Given the description of an element on the screen output the (x, y) to click on. 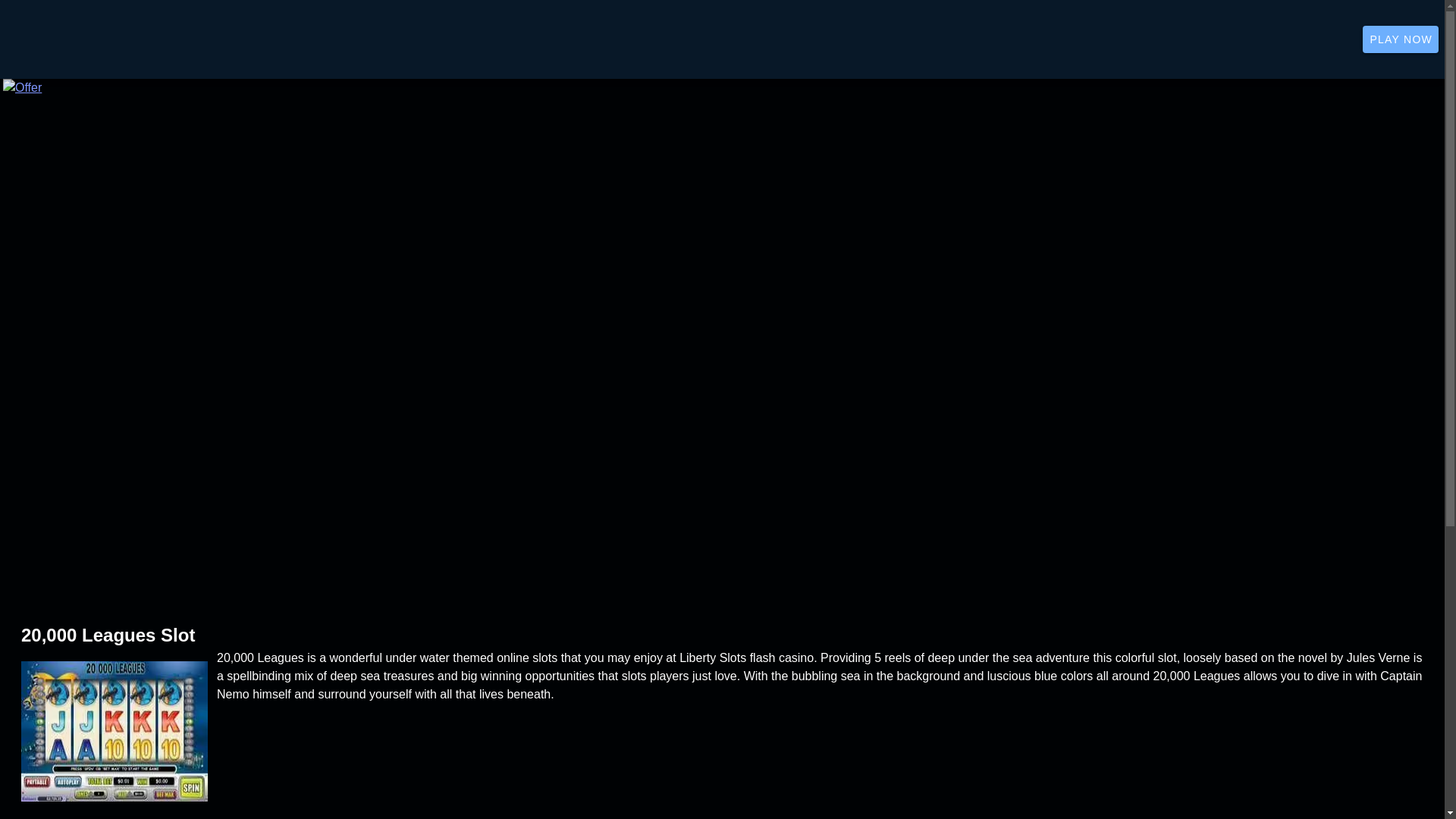
PLAY NOW (1400, 39)
